Given the description of an element on the screen output the (x, y) to click on. 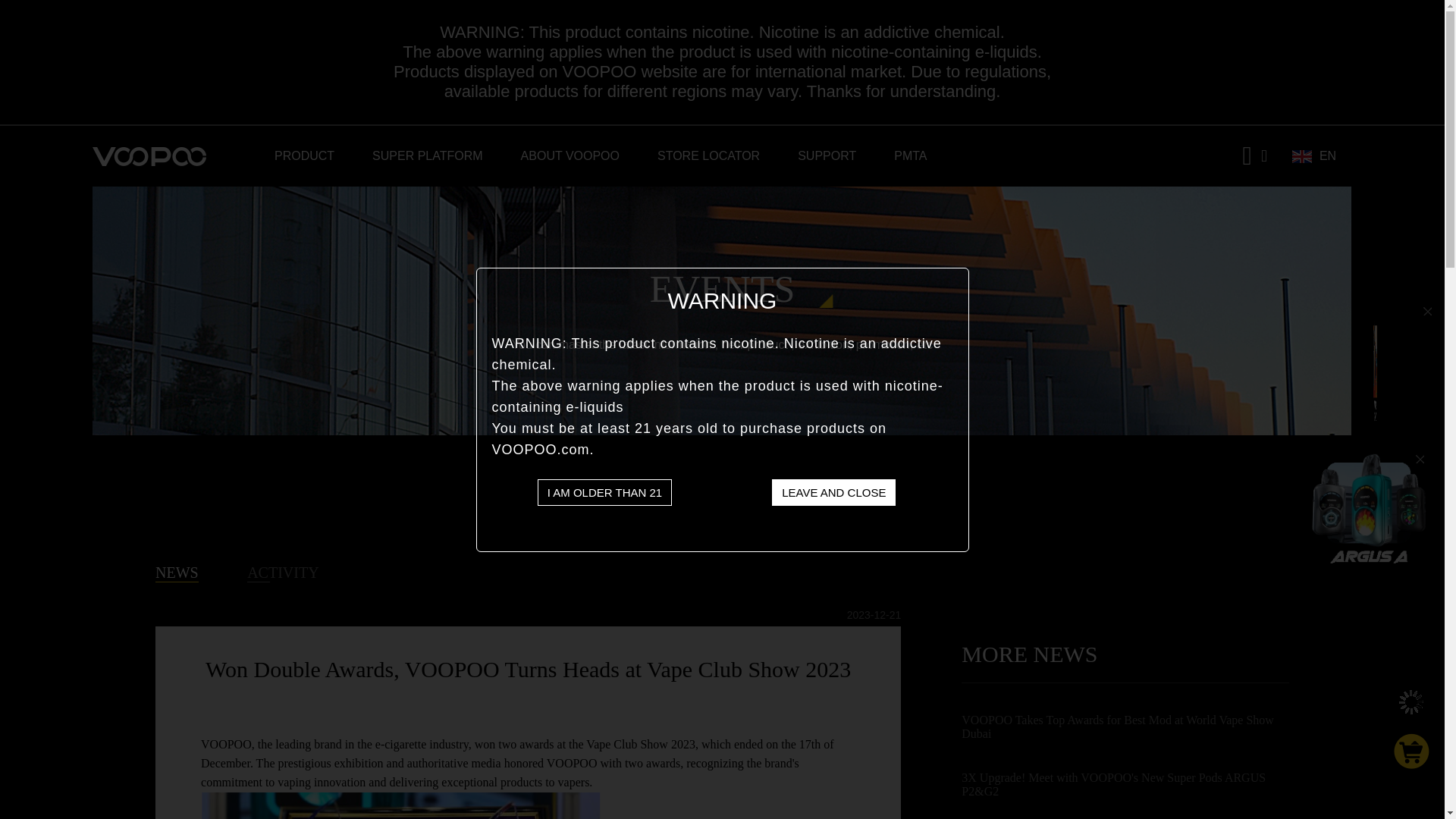
PRODUCT (304, 156)
